Given the description of an element on the screen output the (x, y) to click on. 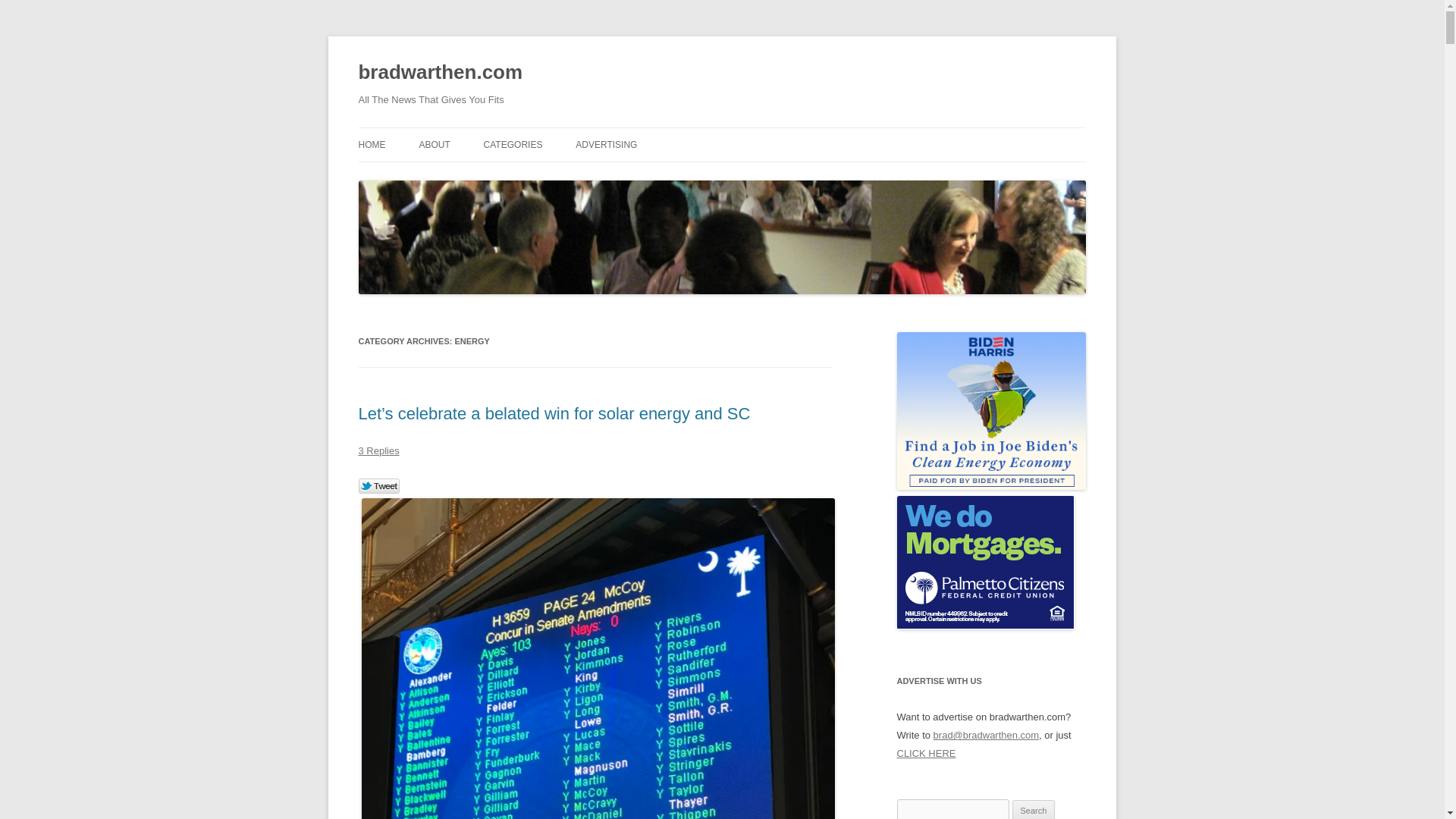
3 Replies (378, 450)
ABOUT (434, 144)
Search (1033, 809)
ADVERTISING (606, 144)
Tweet (378, 486)
bradwarthen.com (440, 72)
bradwarthen.com (440, 72)
SOUTH CAROLINA (558, 176)
CATEGORIES (513, 144)
